Given the description of an element on the screen output the (x, y) to click on. 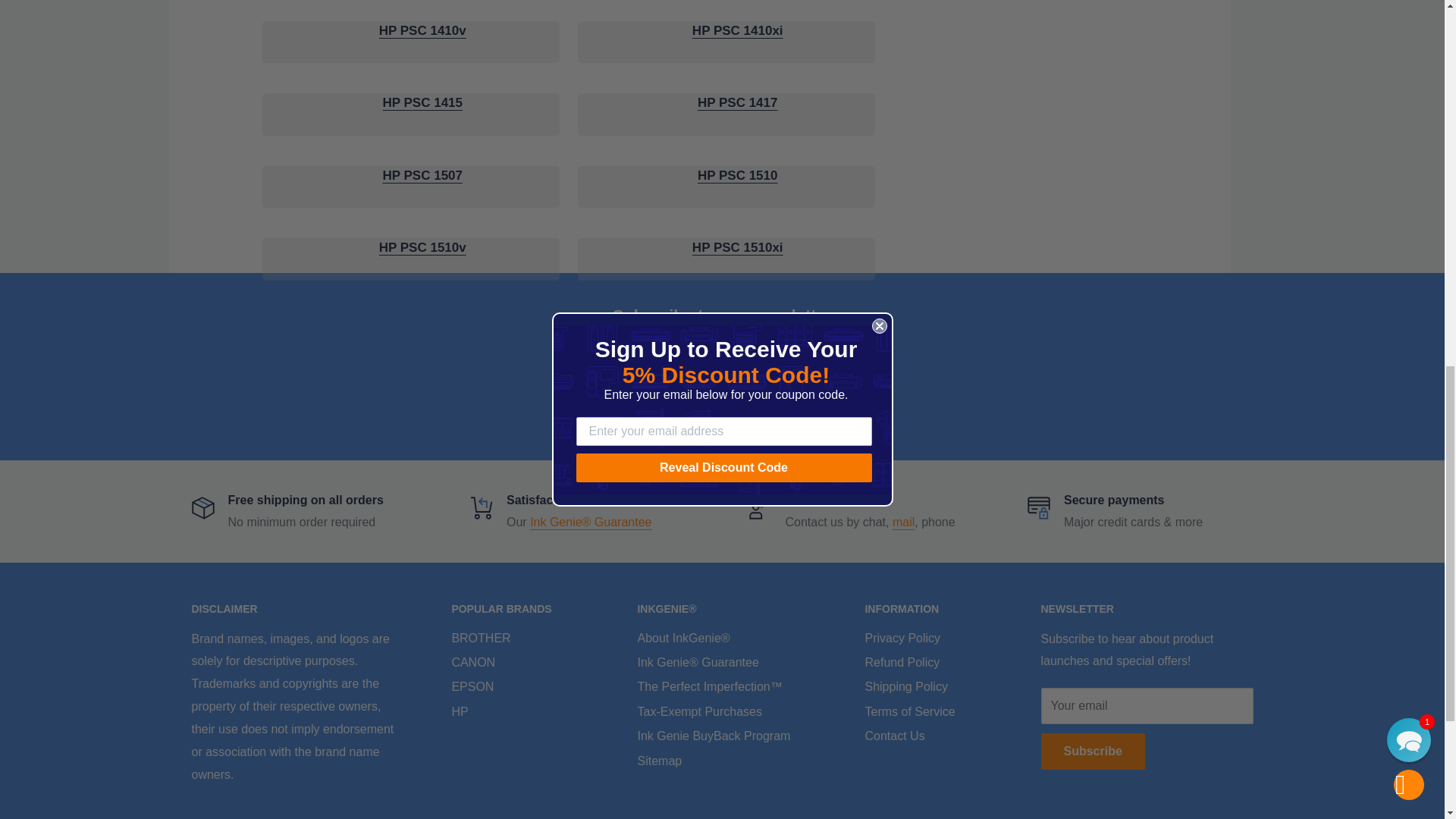
HP PSC 1415 (422, 102)
HP PSC 1417 (737, 102)
HP PSC 1410v (421, 30)
HP PSC 1510xi (738, 247)
HP PSC 1410xi (738, 30)
HP PSC 1510v (421, 247)
HP PSC 1510 (737, 175)
HP PSC 1507 (422, 175)
